Given the description of an element on the screen output the (x, y) to click on. 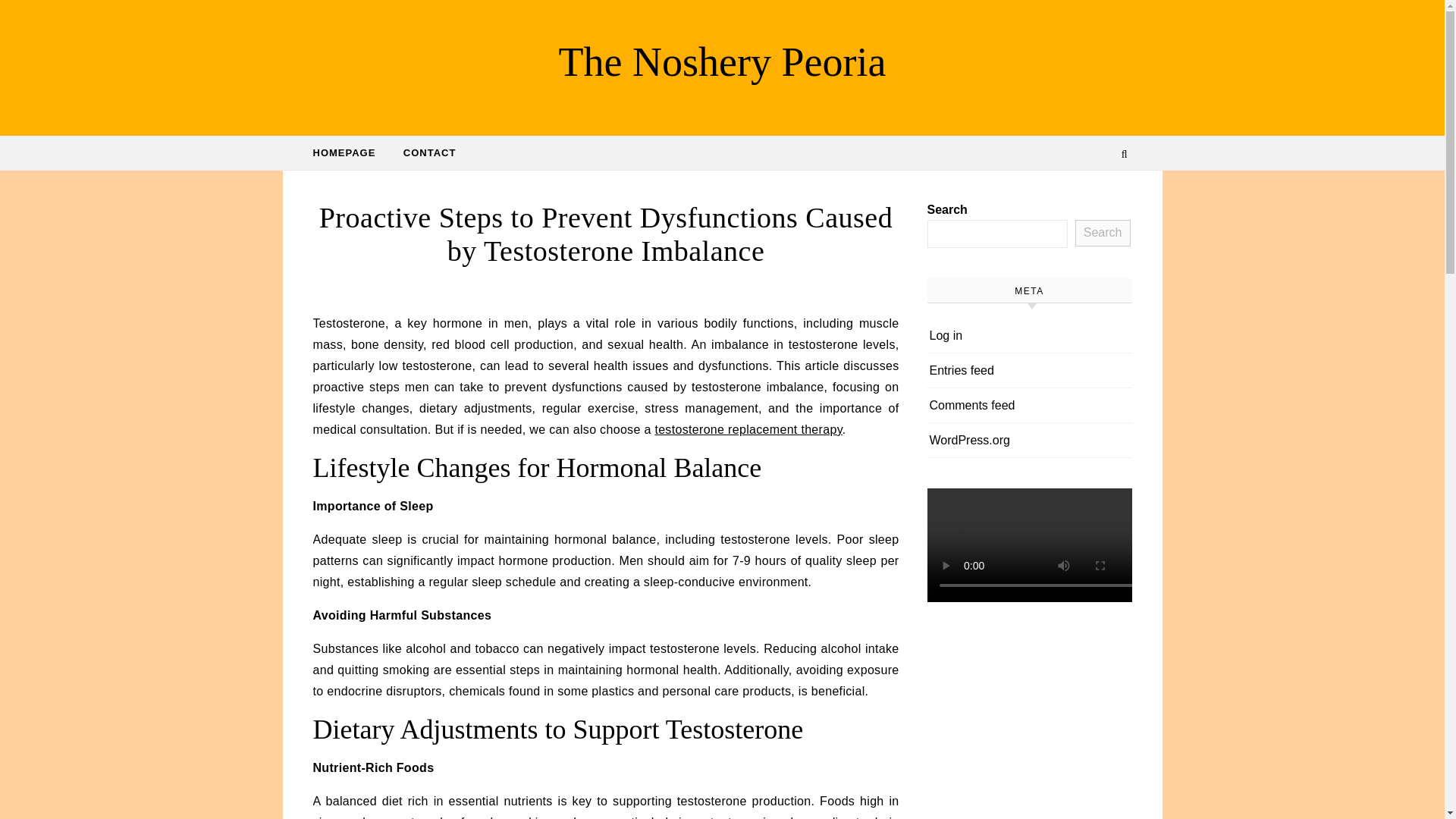
HOMEPAGE (350, 152)
WordPress.org (970, 440)
Log in (946, 335)
testosterone replacement therapy (747, 429)
Search (1103, 233)
Comments feed (972, 404)
The Noshery Peoria (722, 61)
CONTACT (424, 152)
Entries feed (962, 369)
